Given the description of an element on the screen output the (x, y) to click on. 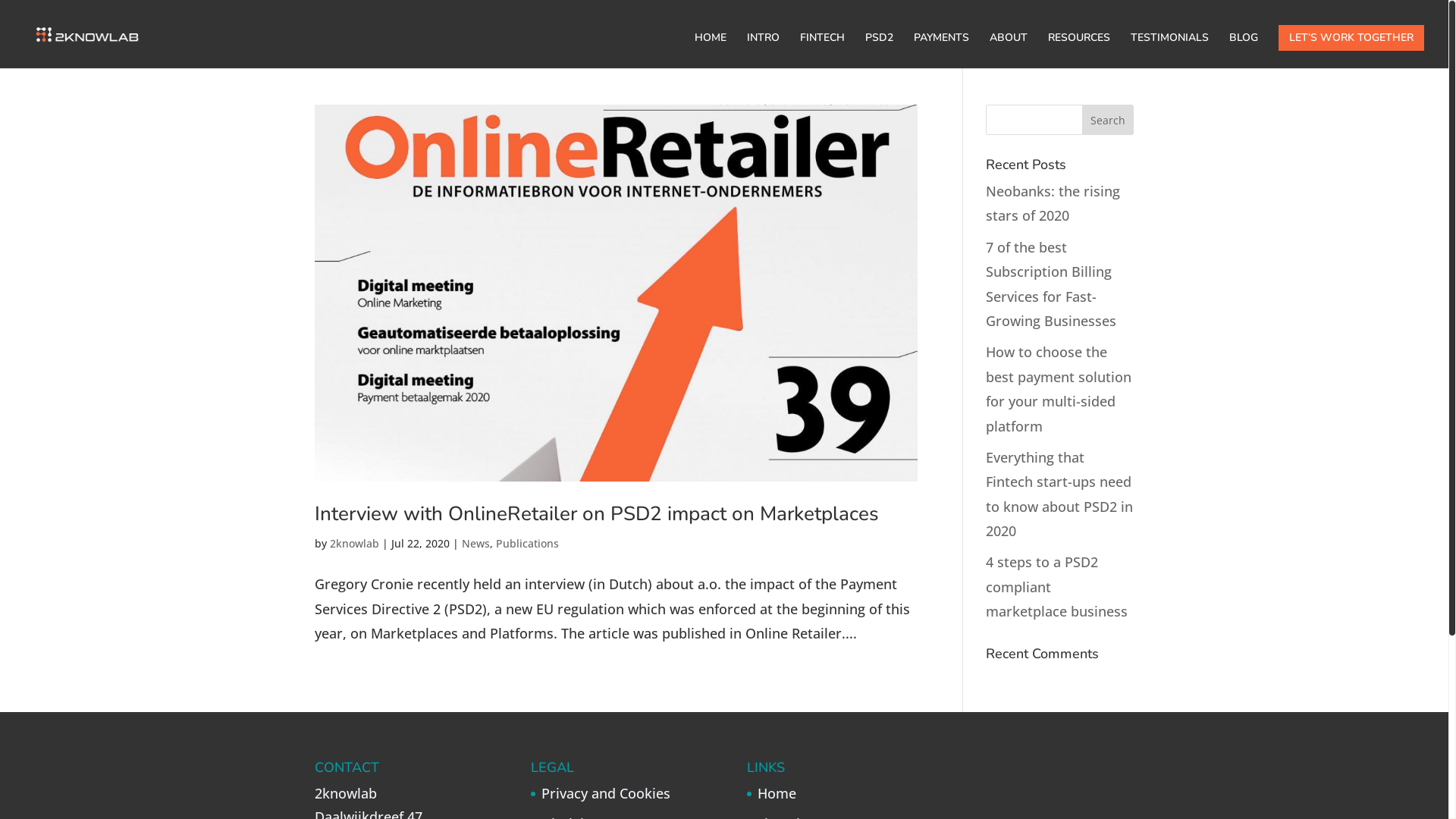
PAYMENTS Element type: text (941, 50)
INTRO Element type: text (762, 50)
2knowlab Element type: text (354, 543)
ABOUT Element type: text (1008, 50)
Interview with OnlineRetailer on PSD2 impact on Marketplaces Element type: text (596, 513)
News Element type: text (475, 543)
PSD2 Element type: text (879, 50)
RESOURCES Element type: text (1079, 50)
Neobanks: the rising stars of 2020 Element type: text (1052, 203)
Privacy and Cookies Element type: text (605, 793)
FINTECH Element type: text (822, 50)
HOME Element type: text (710, 50)
TESTIMONIALS Element type: text (1169, 50)
Home Element type: text (776, 793)
Publications Element type: text (526, 543)
Search Element type: text (1107, 119)
BLOG Element type: text (1243, 50)
4 steps to a PSD2 compliant marketplace business Element type: text (1056, 586)
